Given the description of an element on the screen output the (x, y) to click on. 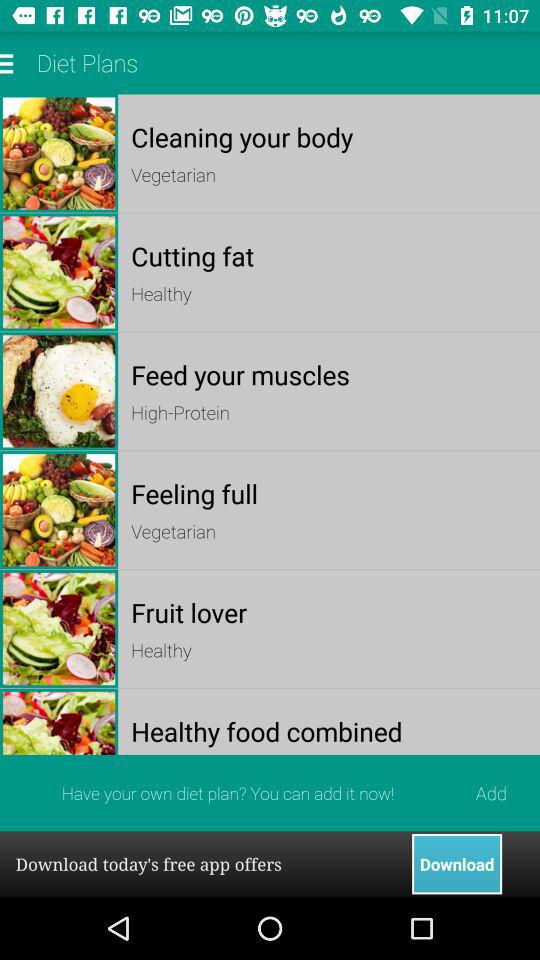
turn off feed your muscles icon (328, 374)
